Given the description of an element on the screen output the (x, y) to click on. 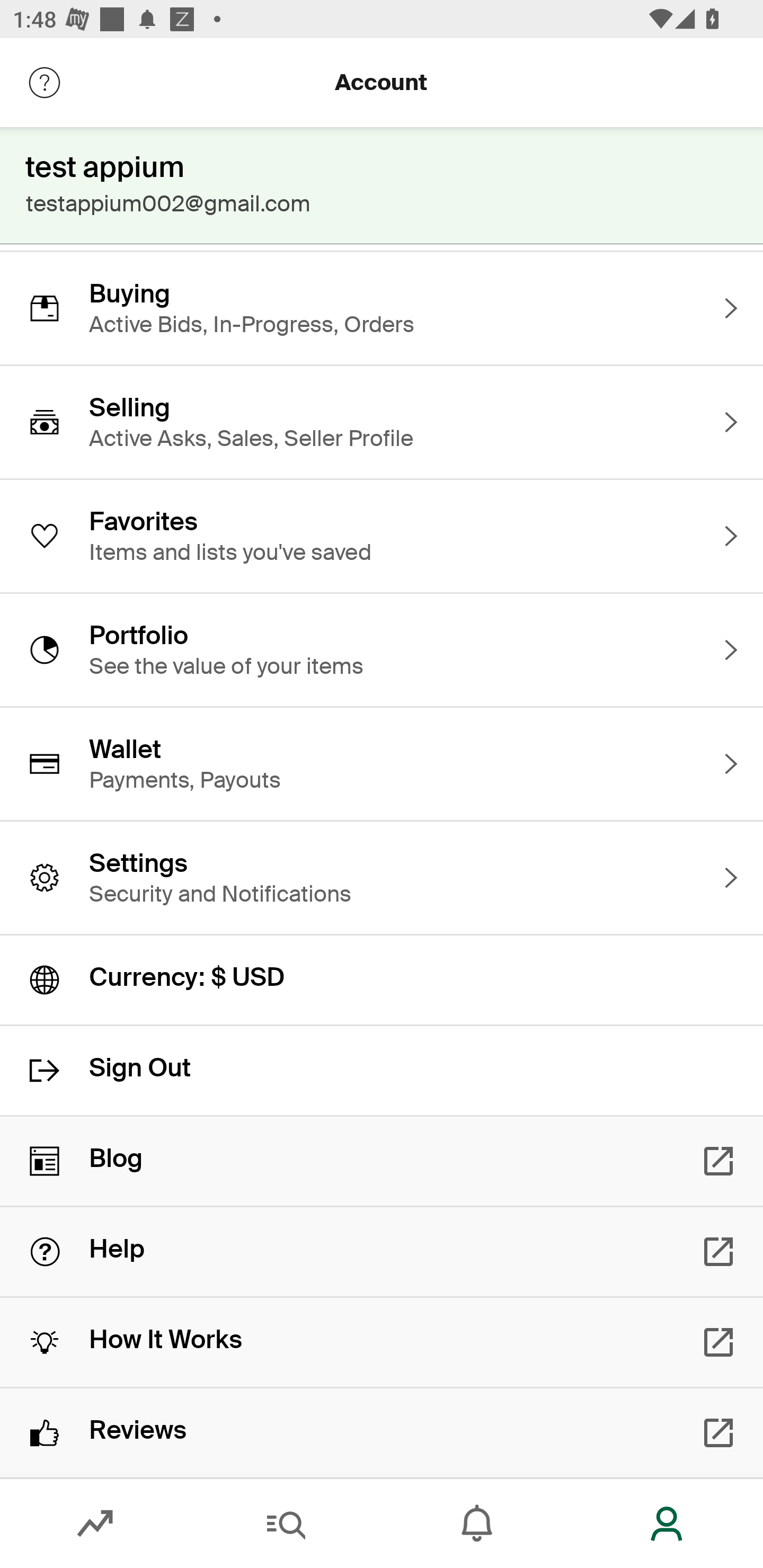
Buying Active Bids, In-Progress, Orders (381, 307)
Selling Active Asks, Sales, Seller Profile (381, 421)
Favorites Items and lists you've saved (381, 535)
Portfolio See the value of your items (381, 649)
Wallet Payments, Payouts (381, 763)
Settings Security and Notifications (381, 877)
Currency: $ USD (381, 979)
Sign Out (381, 1069)
Blog (381, 1160)
Help (381, 1251)
How It Works (381, 1342)
Reviews (381, 1432)
Market (95, 1523)
Search (285, 1523)
Inbox (476, 1523)
